Given the description of an element on the screen output the (x, y) to click on. 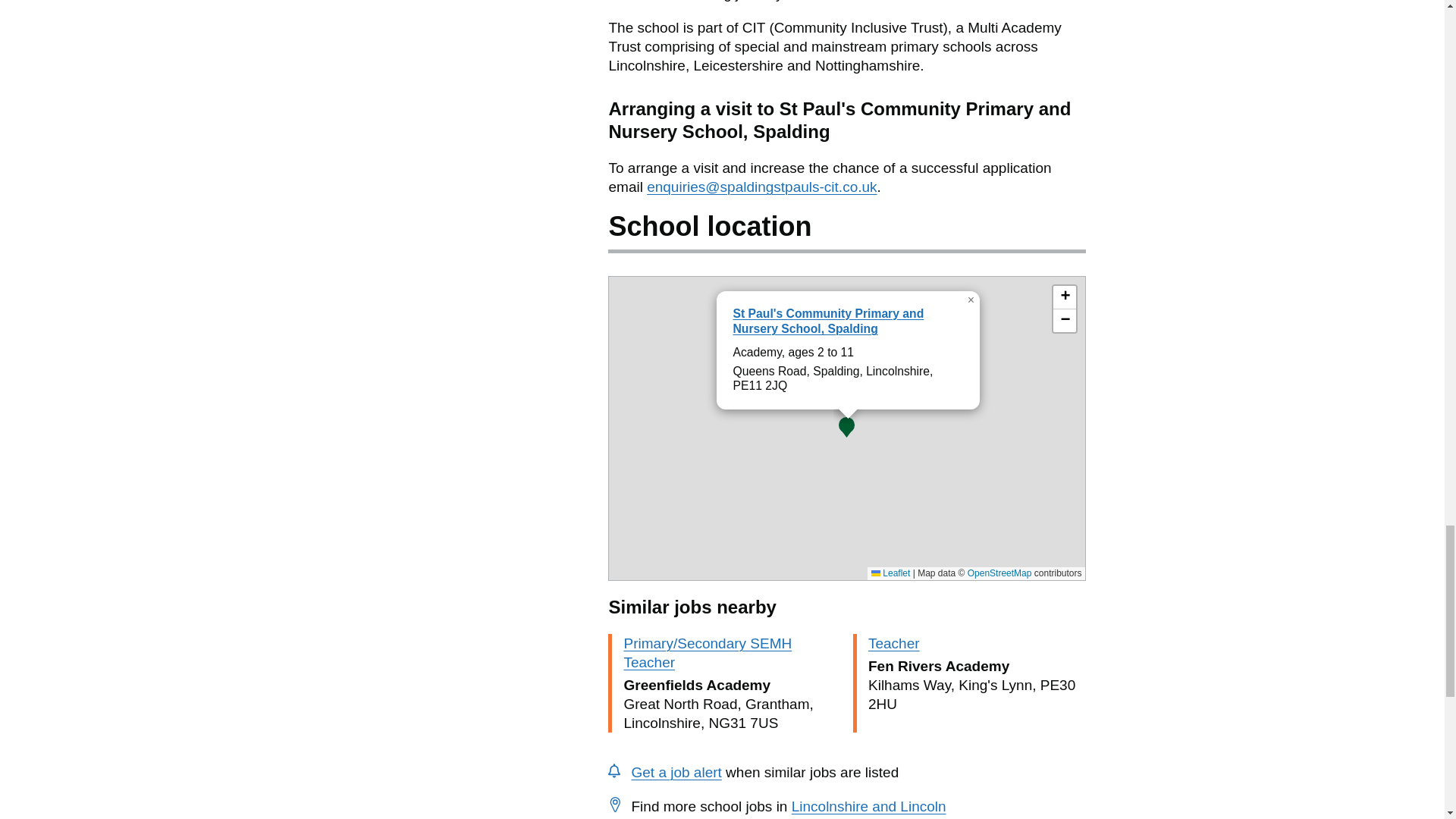
Zoom in (1063, 297)
Get a job alert (675, 772)
St Paul's Community Primary and Nursery School, Spalding (827, 321)
Teacher (893, 643)
OpenStreetMap (1000, 573)
Leaflet (890, 573)
A JavaScript library for interactive maps (890, 573)
Lincolnshire and Lincoln (869, 806)
Zoom out (1063, 320)
